Given the description of an element on the screen output the (x, y) to click on. 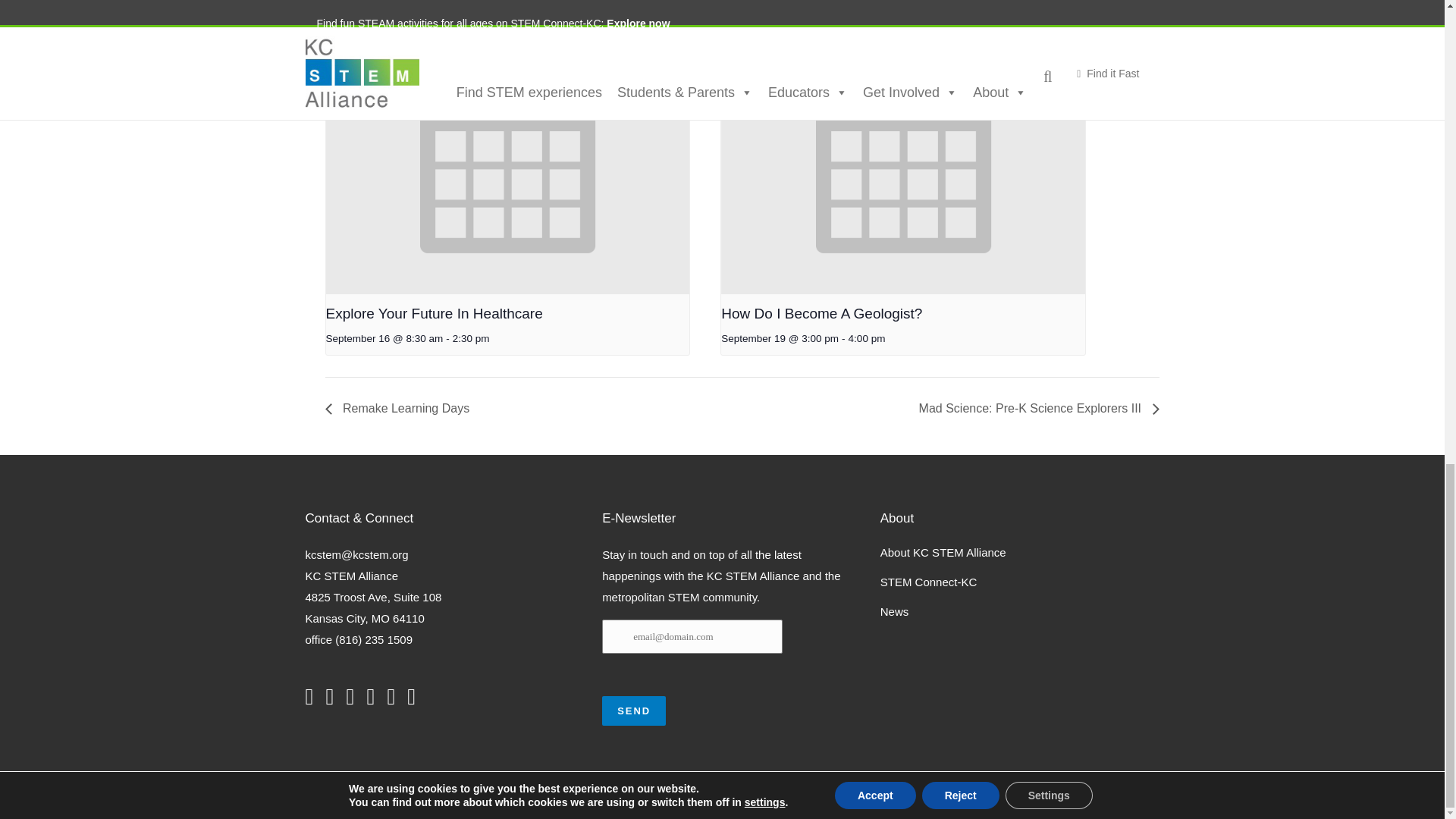
SEND (633, 710)
